Given the description of an element on the screen output the (x, y) to click on. 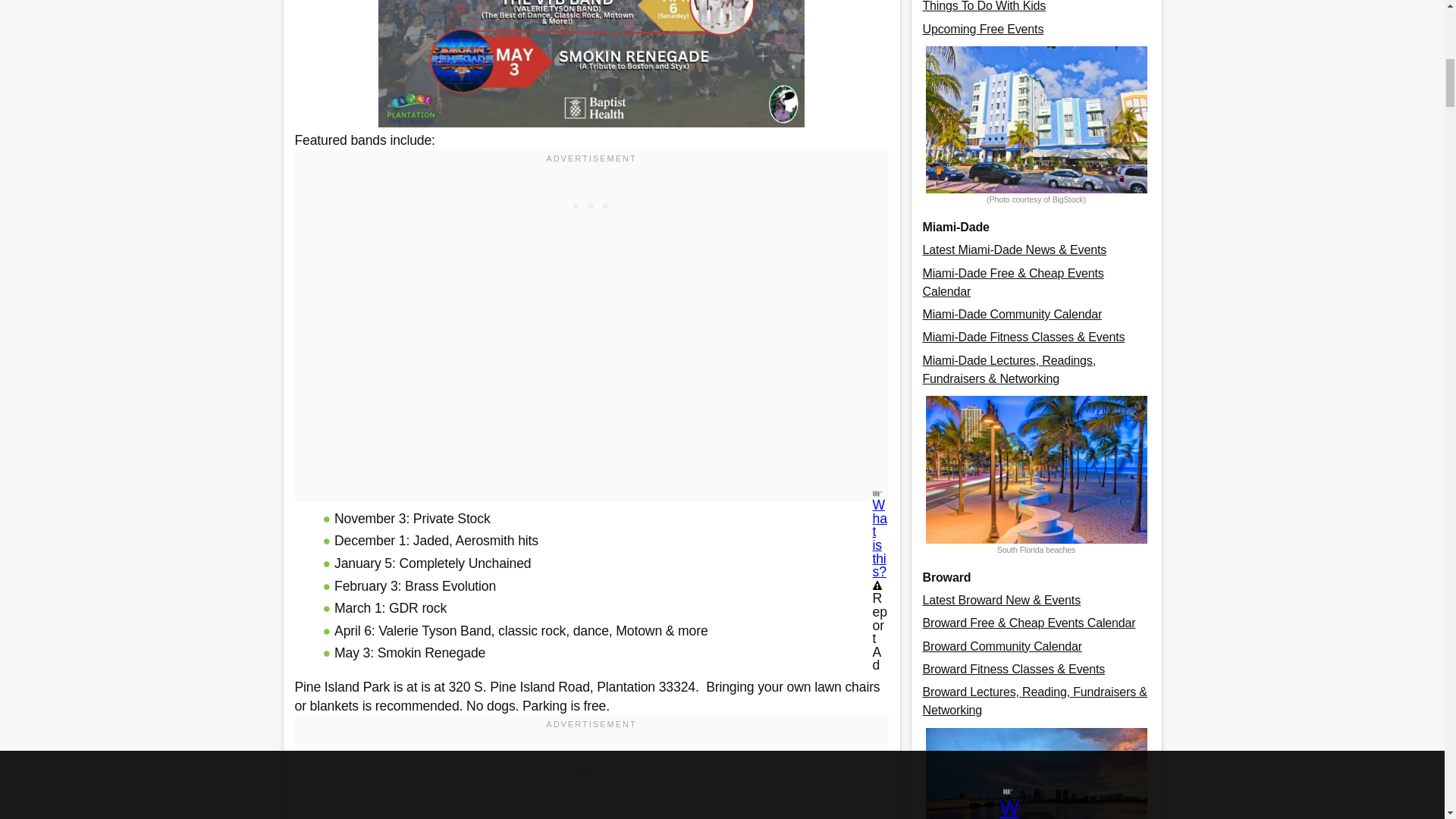
3rd party ad content (591, 767)
3rd party ad content (591, 202)
